Given the description of an element on the screen output the (x, y) to click on. 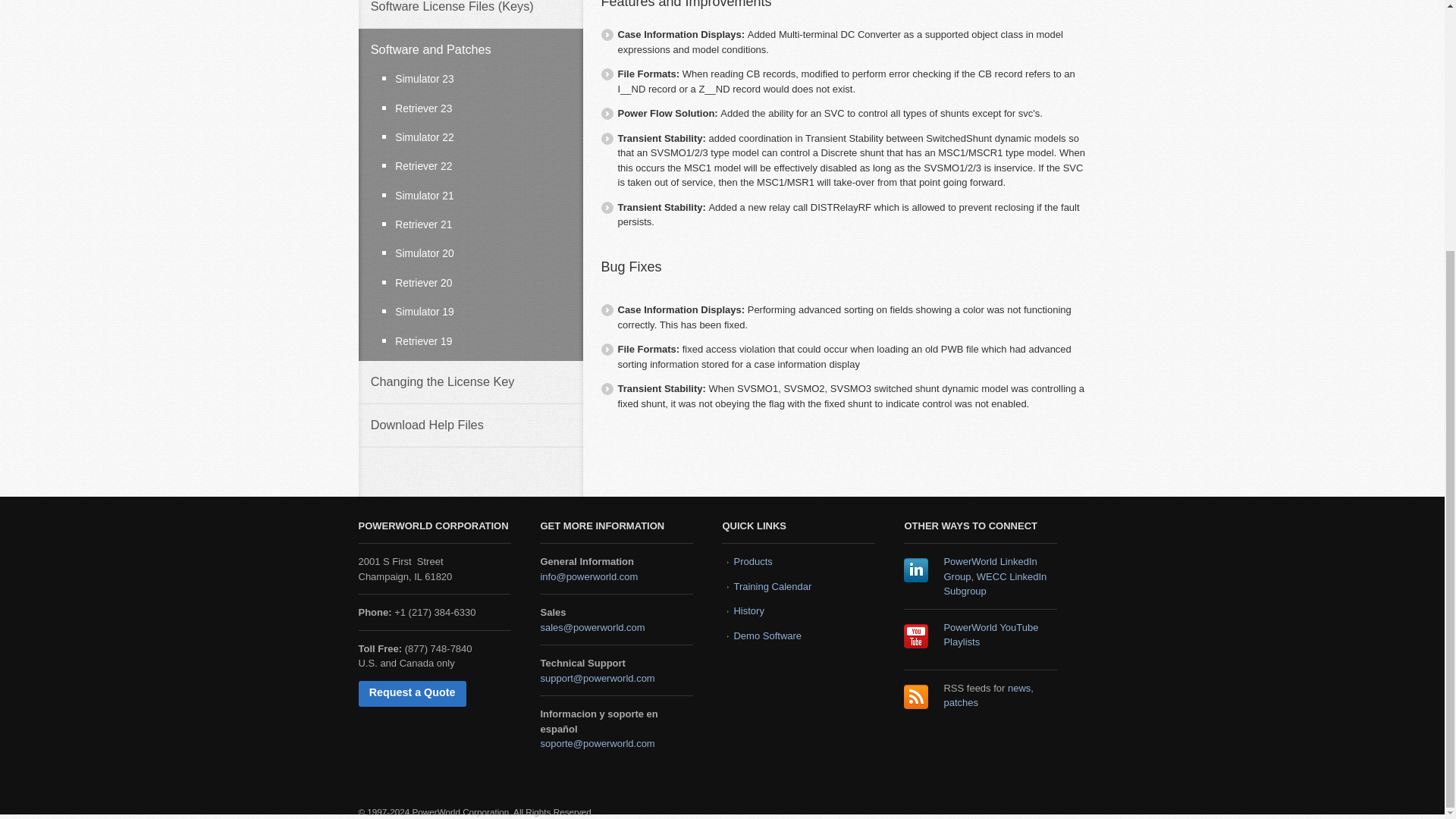
rss-large (916, 696)
linked-in (916, 569)
Request a Quote (411, 693)
youtube (916, 636)
